Given the description of an element on the screen output the (x, y) to click on. 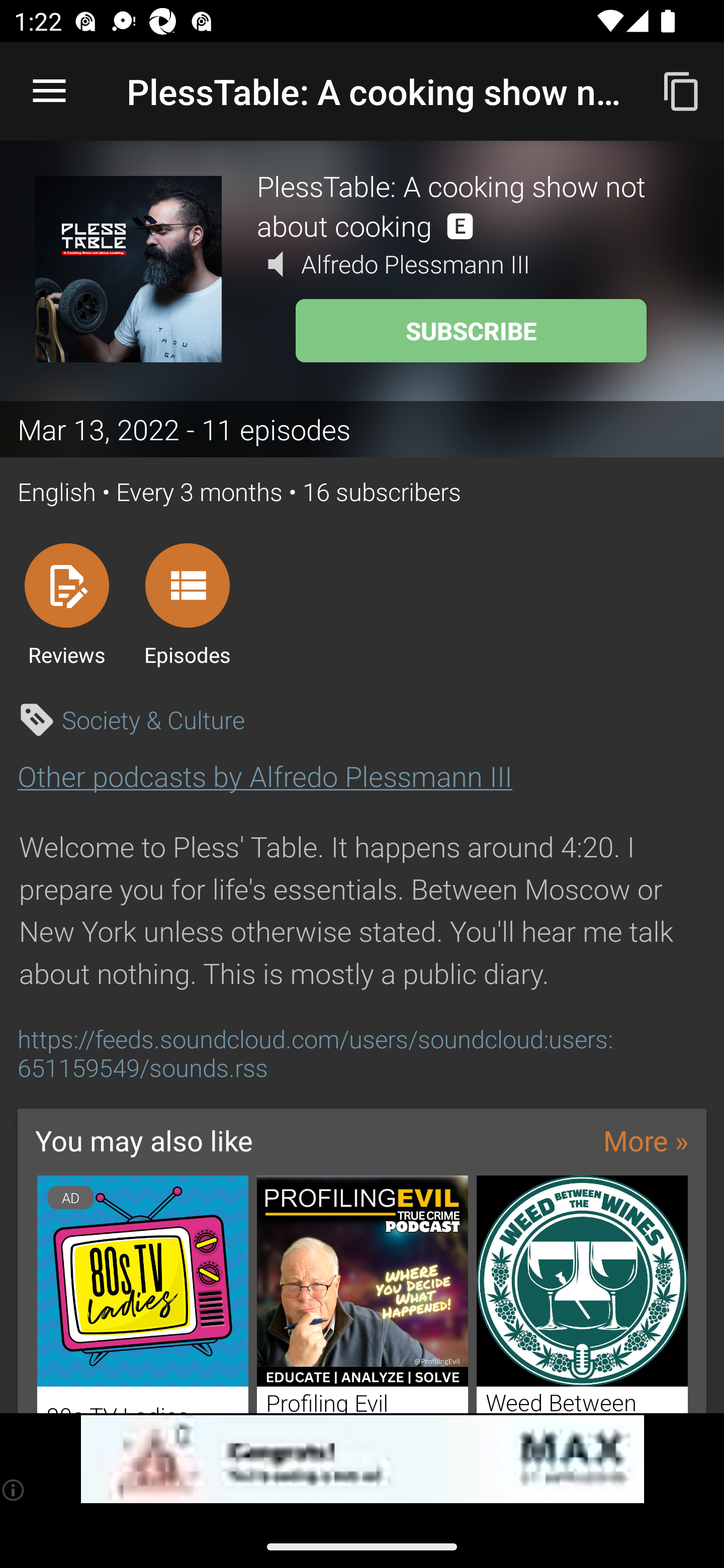
Open navigation sidebar (49, 91)
Copy feed url to clipboard (681, 90)
PlessTable: A cooking show not about cooking  🅴 (472, 205)
SUBSCRIBE (470, 330)
Reviews (66, 604)
Episodes (187, 604)
Other podcasts by Alfredo Plessmann III (264, 775)
More » (645, 1139)
AD 80s TV Ladies (142, 1294)
Profiling Evil Podcast with Mike King (362, 1294)
Weed Between The Wines (581, 1294)
app-monetization (362, 1459)
(i) (14, 1489)
